Given the description of an element on the screen output the (x, y) to click on. 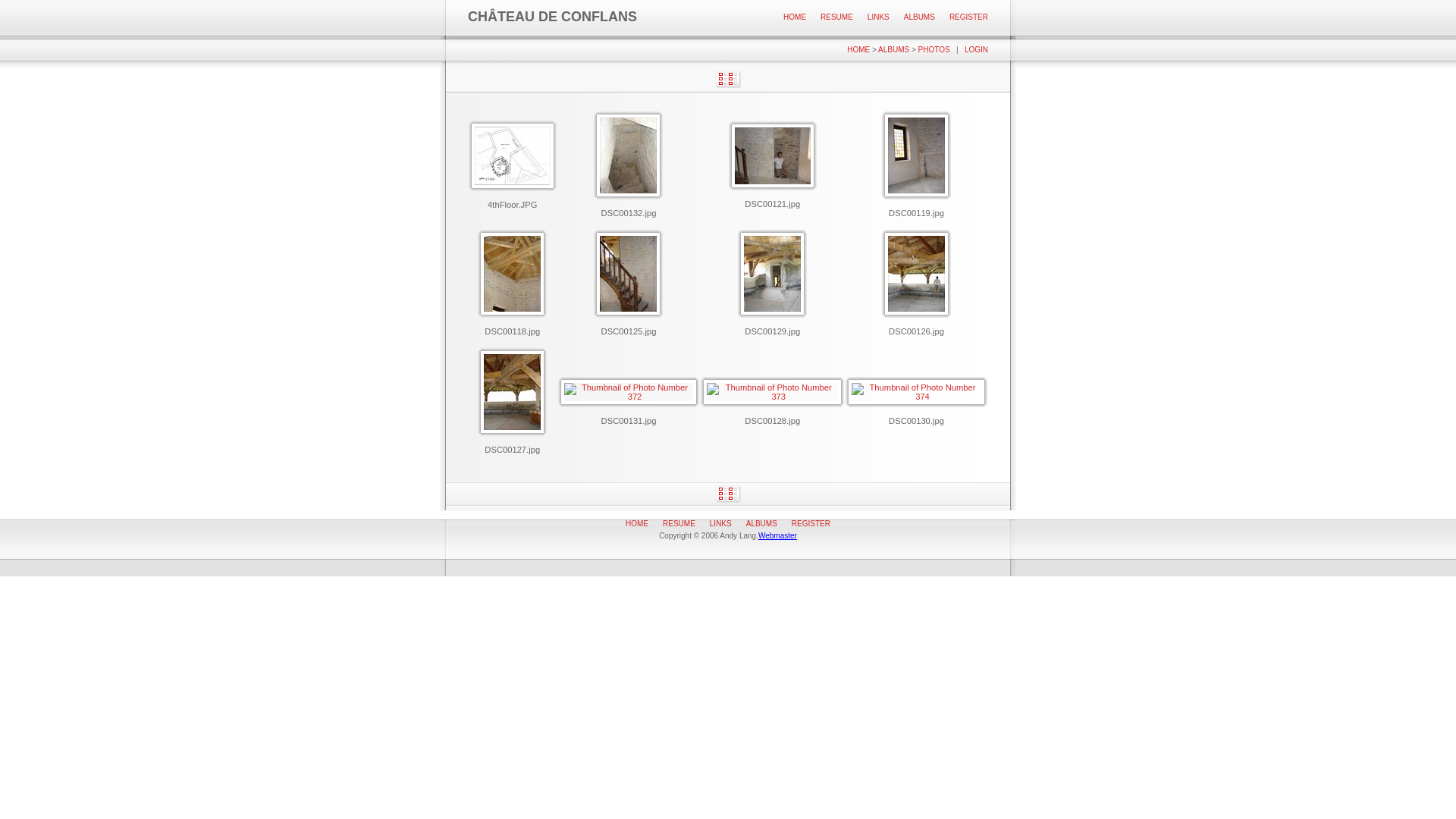
REGISTER Element type: text (810, 523)
RESUME Element type: text (678, 523)
PHOTOS Element type: text (934, 49)
RESUME Element type: text (836, 16)
LOGIN Element type: text (976, 49)
REGISTER Element type: text (968, 16)
HOME Element type: text (636, 523)
ALBUMS Element type: text (893, 49)
HOME Element type: text (858, 49)
LINKS Element type: text (878, 16)
HOME Element type: text (794, 16)
ALBUMS Element type: text (761, 523)
ALBUMS Element type: text (919, 16)
LINKS Element type: text (720, 523)
Webmaster Element type: text (777, 535)
